Given the description of an element on the screen output the (x, y) to click on. 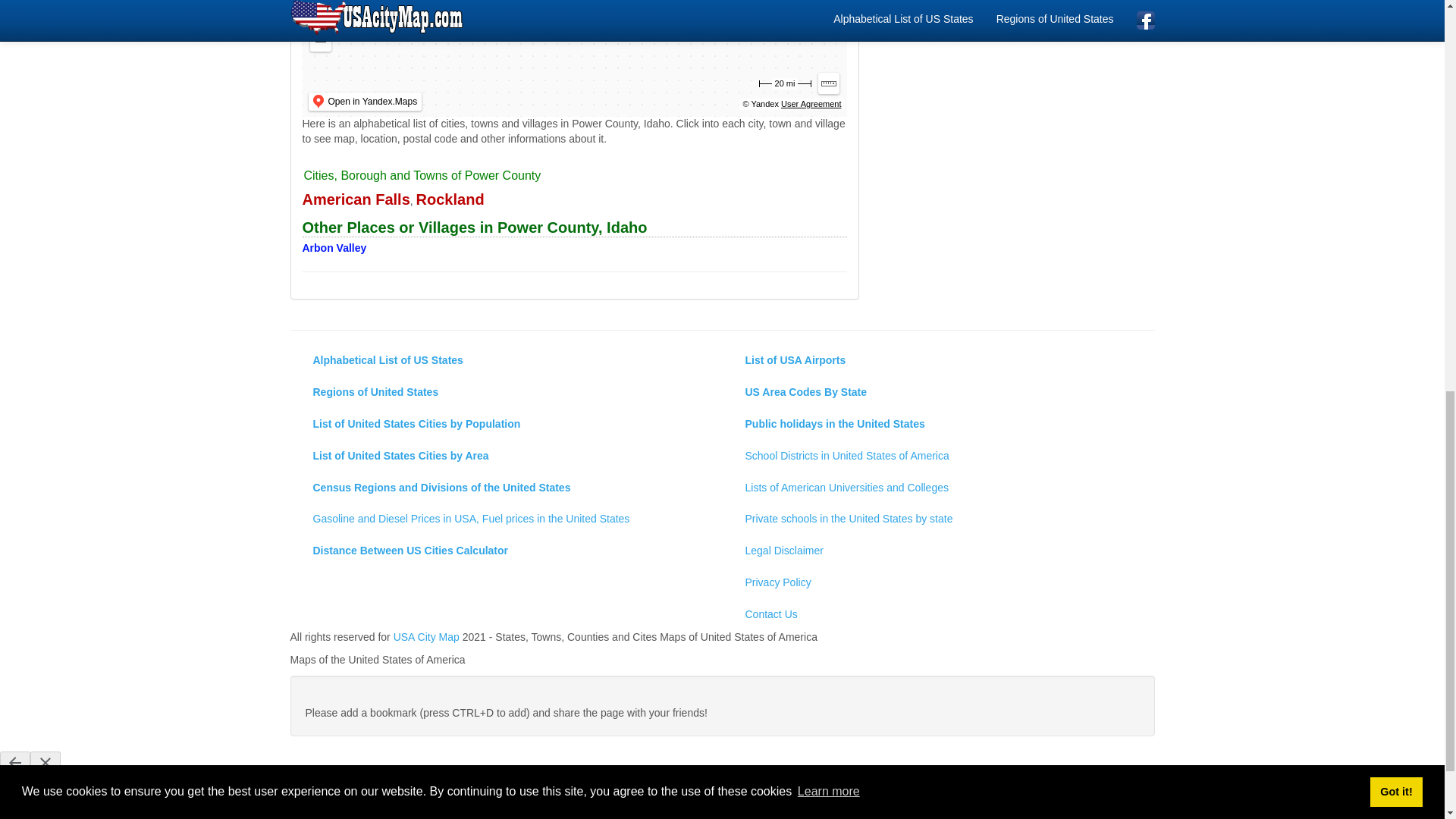
School Districts in United States of America (937, 456)
Rockland Satellite View Map (450, 200)
List of USA Airports (937, 360)
Rockland (450, 200)
List of United States Cities by Area (506, 456)
List of United States Cities by Population (506, 424)
Alphabetical List of US States (506, 360)
Measure distance between points on map (827, 83)
American Falls Satellite View Map (355, 200)
Regions of United States (506, 392)
Open in Yandex.Maps (364, 101)
American Falls (355, 200)
Public holidays in the United States (937, 424)
Distance Between US Cities Calculator (506, 551)
